Given the description of an element on the screen output the (x, y) to click on. 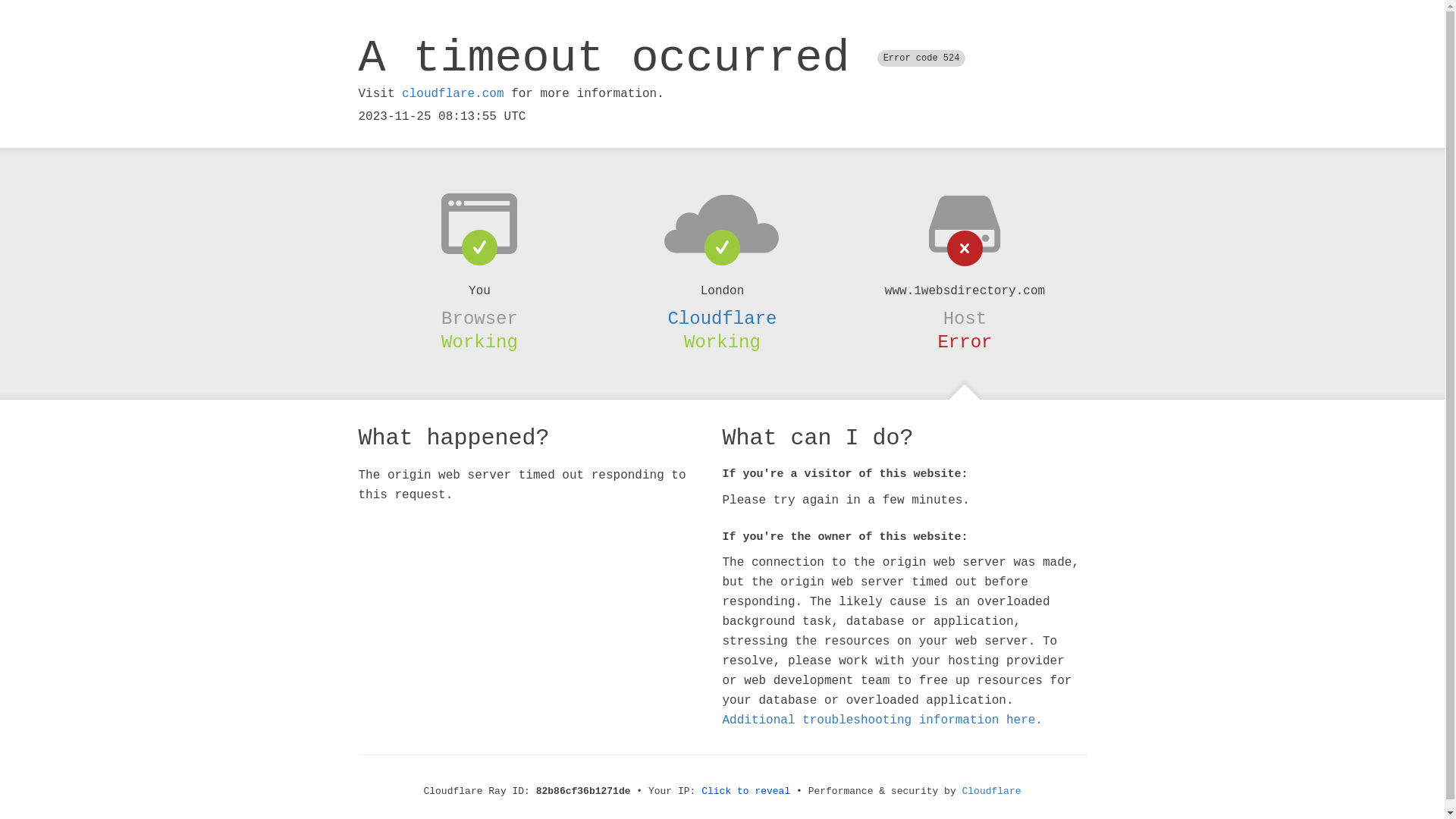
cloudflare.com Element type: text (452, 93)
Cloudflare Element type: text (721, 318)
Cloudflare Element type: text (991, 791)
Click to reveal Element type: text (745, 791)
Additional troubleshooting information here. Element type: text (881, 720)
